Given the description of an element on the screen output the (x, y) to click on. 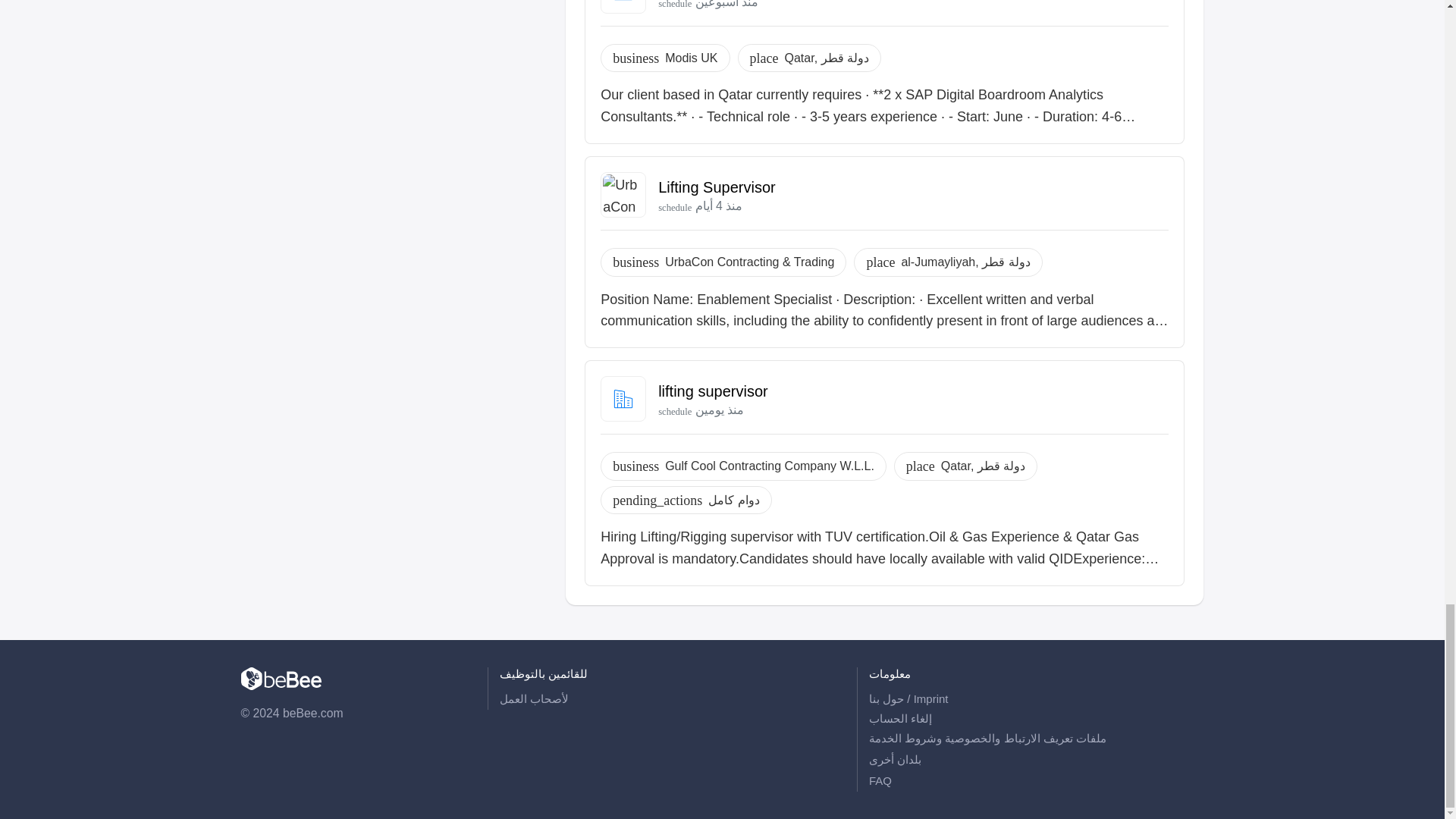
lifting supervisor (713, 391)
Modis UK (691, 57)
Lifting Supervisor (717, 187)
Lifting Supervisor (717, 187)
lifting supervisor (713, 391)
